Given the description of an element on the screen output the (x, y) to click on. 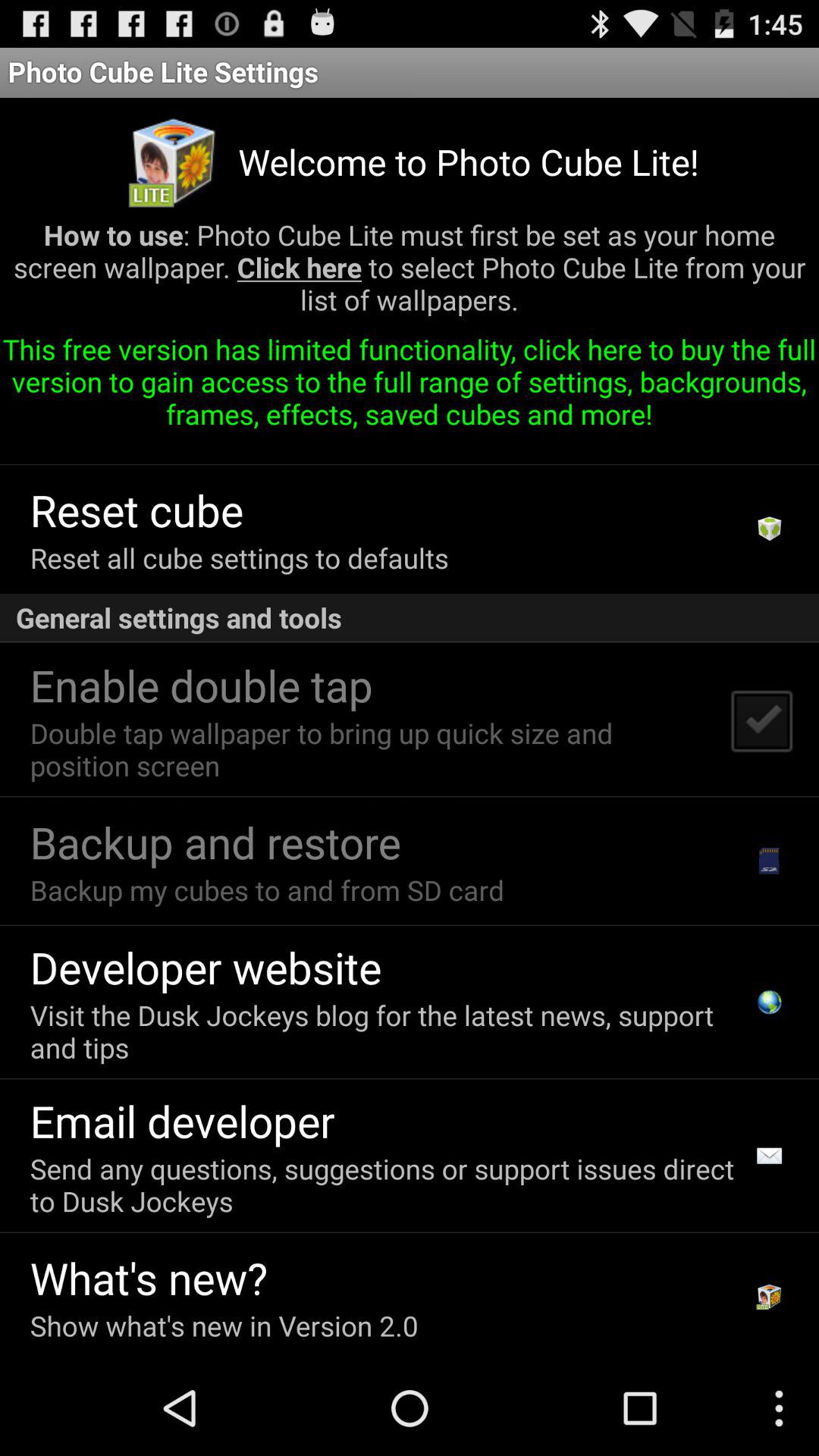
launch the item below how to use (409, 387)
